Given the description of an element on the screen output the (x, y) to click on. 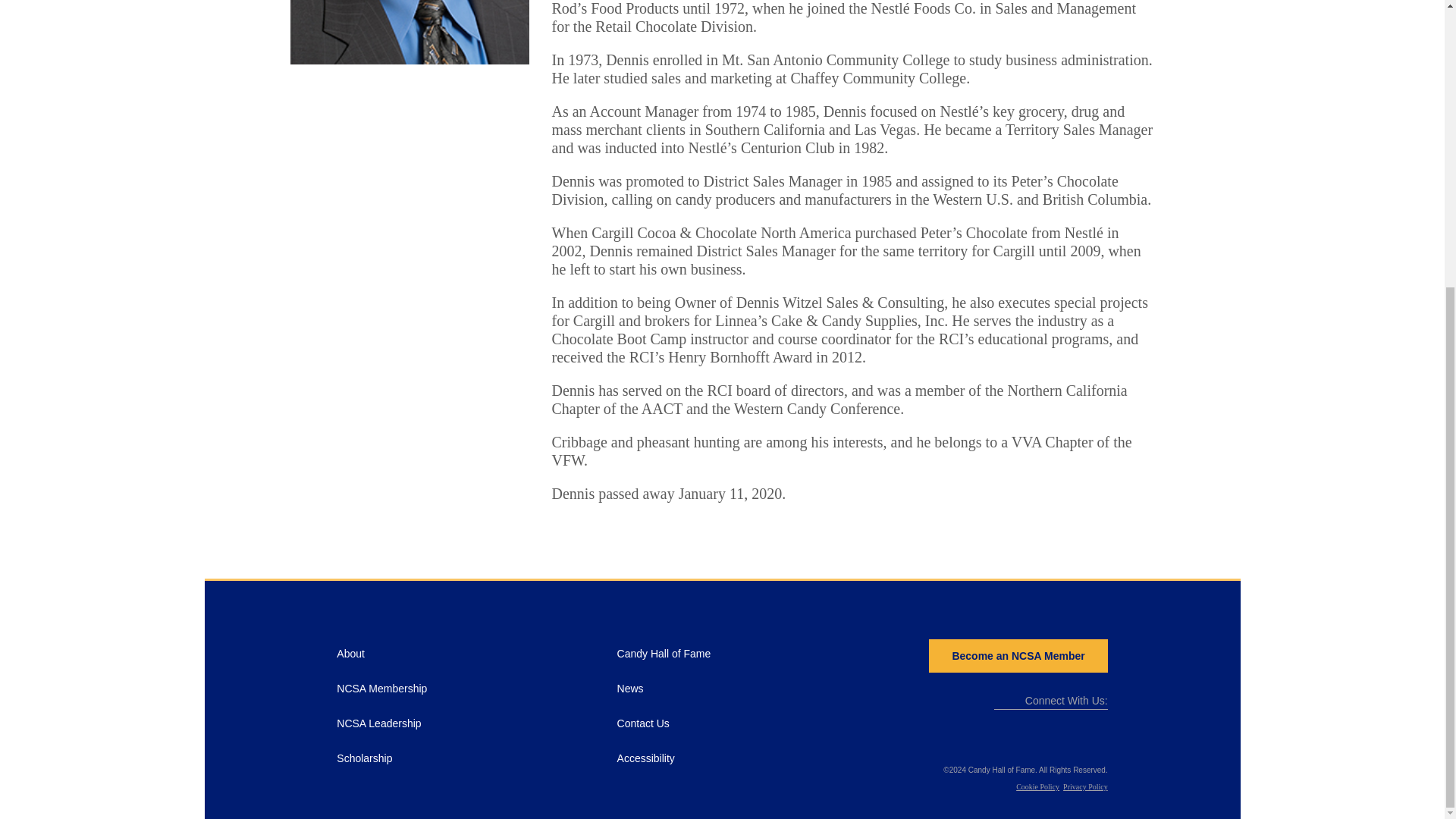
About (350, 653)
News (630, 688)
Become an NCSA Member (1018, 656)
Privacy Policy (1085, 786)
Accessibility (646, 758)
NCSA Leadership (378, 723)
Contact Us (643, 723)
Scholarship (363, 758)
Candy Hall of Fame (664, 653)
Cookie Policy (1037, 786)
NCSA Membership (381, 688)
